Given the description of an element on the screen output the (x, y) to click on. 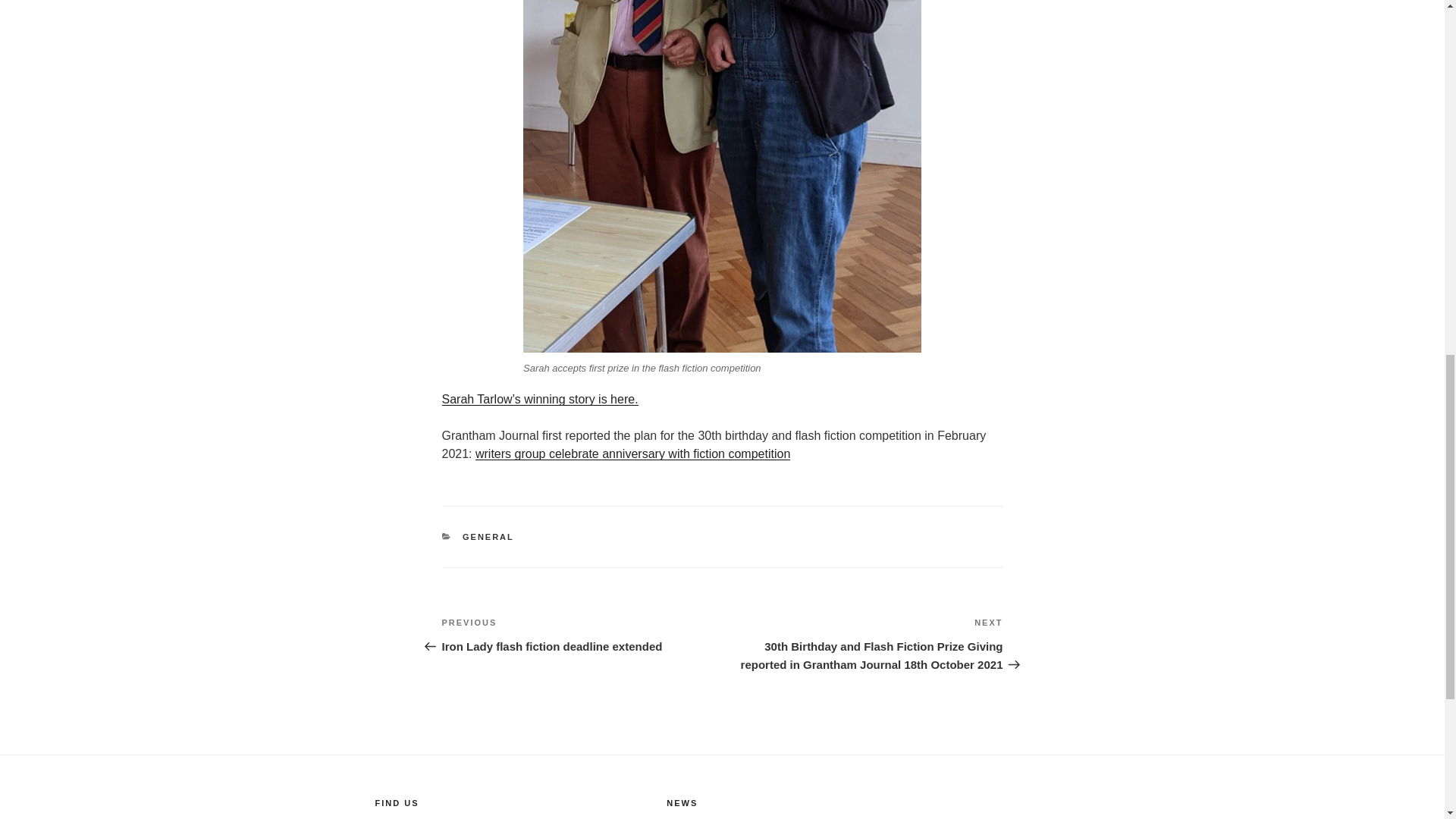
writers group celebrate anniversary with fiction competition (633, 453)
GENERAL (488, 536)
